Given the description of an element on the screen output the (x, y) to click on. 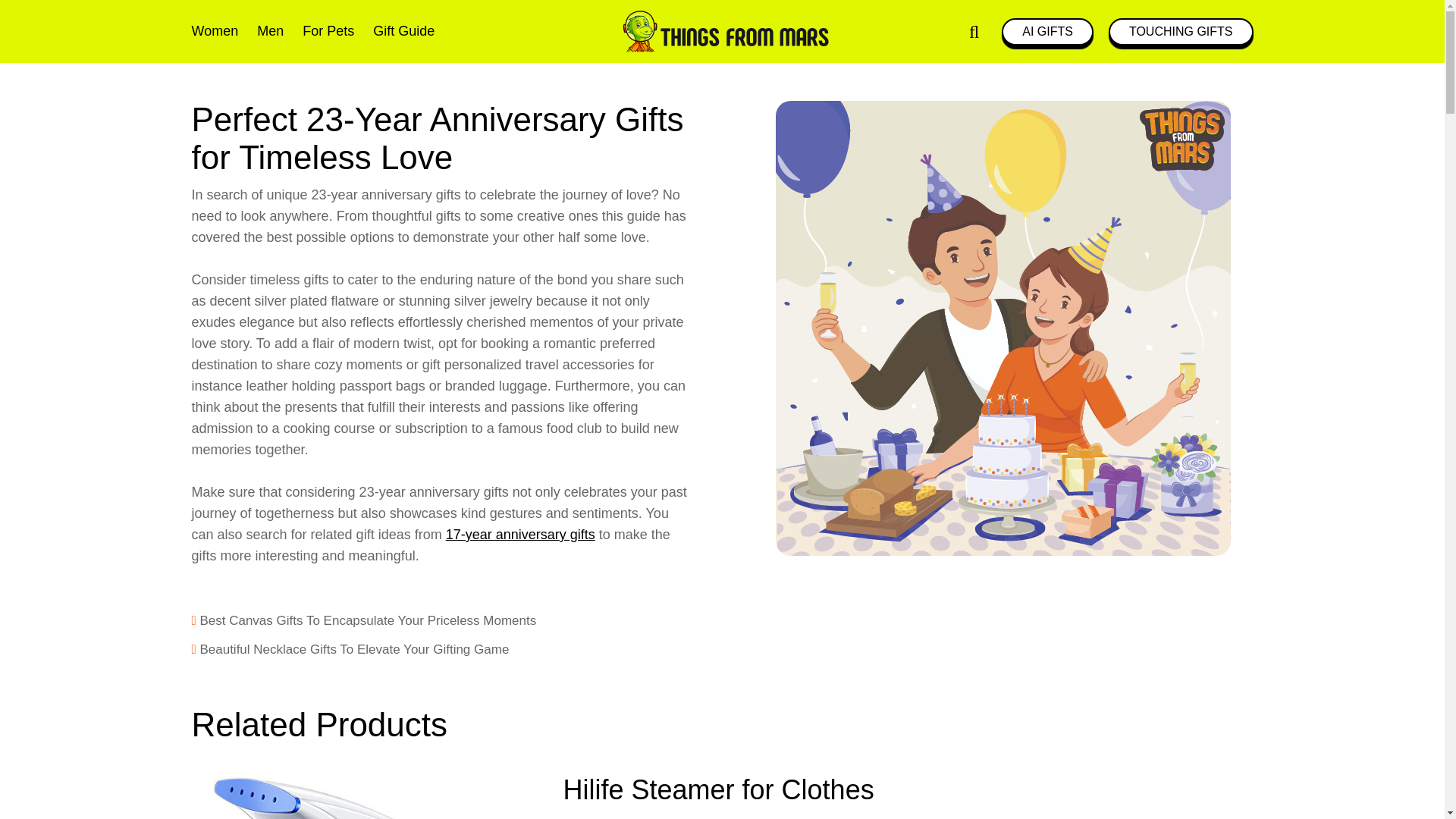
AI GIFTS (1047, 31)
Gift Guide (402, 31)
ThingsFromMars (721, 29)
Women (214, 31)
Hilife Steamer for Clothes (349, 796)
Best Canvas Gifts To Encapsulate Your Priceless Moments (440, 620)
Hilife Steamer for Clothes (717, 789)
Men (270, 31)
Beautiful Necklace Gifts To Elevate Your Gifting Game (440, 649)
